Given the description of an element on the screen output the (x, y) to click on. 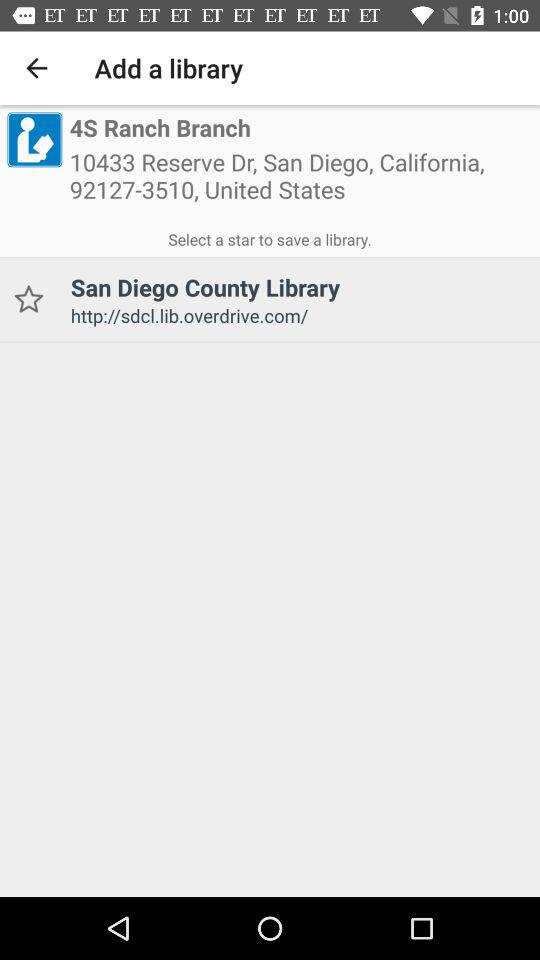
select the icon above the select a star icon (301, 182)
